Given the description of an element on the screen output the (x, y) to click on. 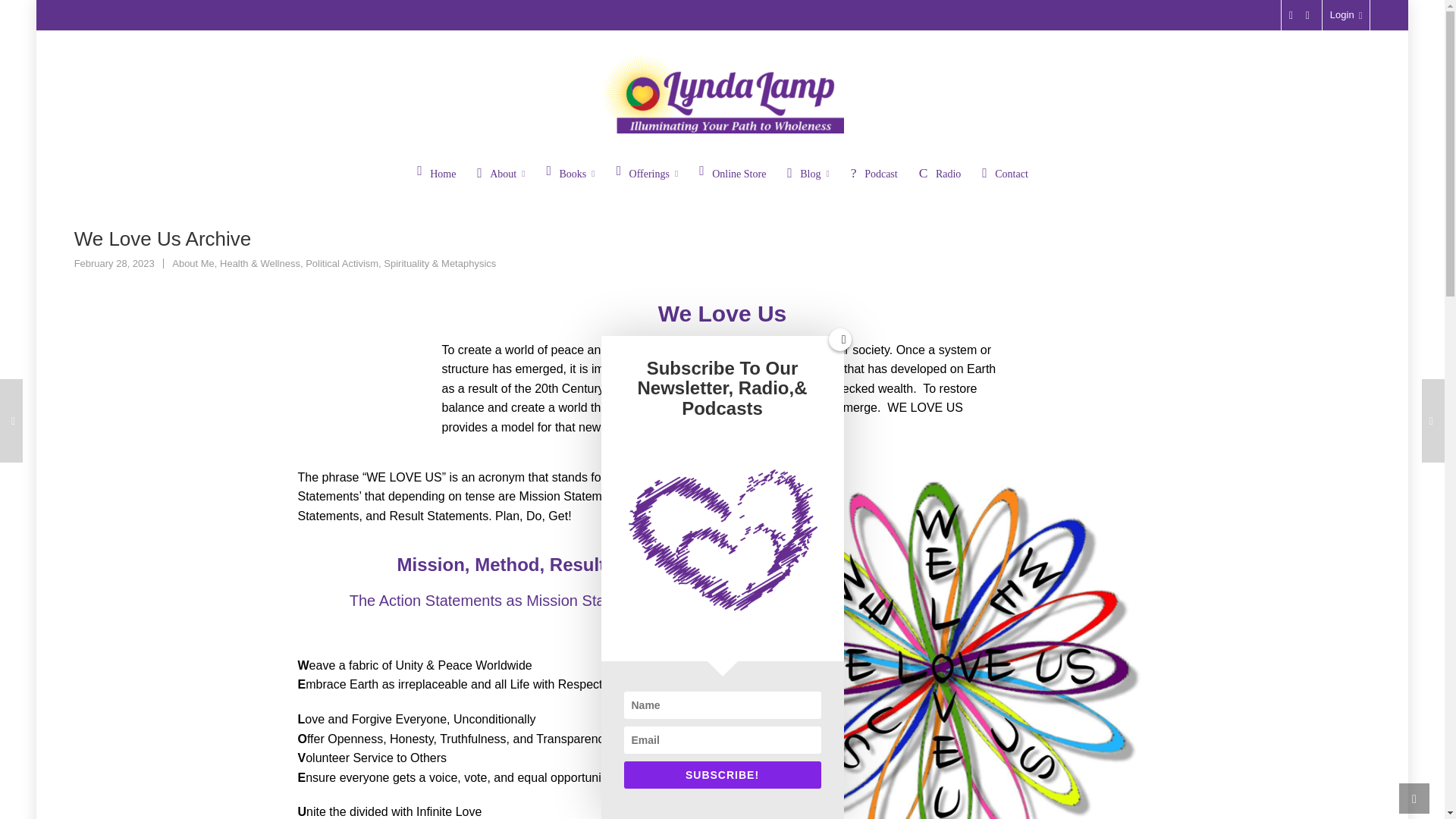
Home (436, 173)
About (500, 173)
Login (1346, 15)
